Given the description of an element on the screen output the (x, y) to click on. 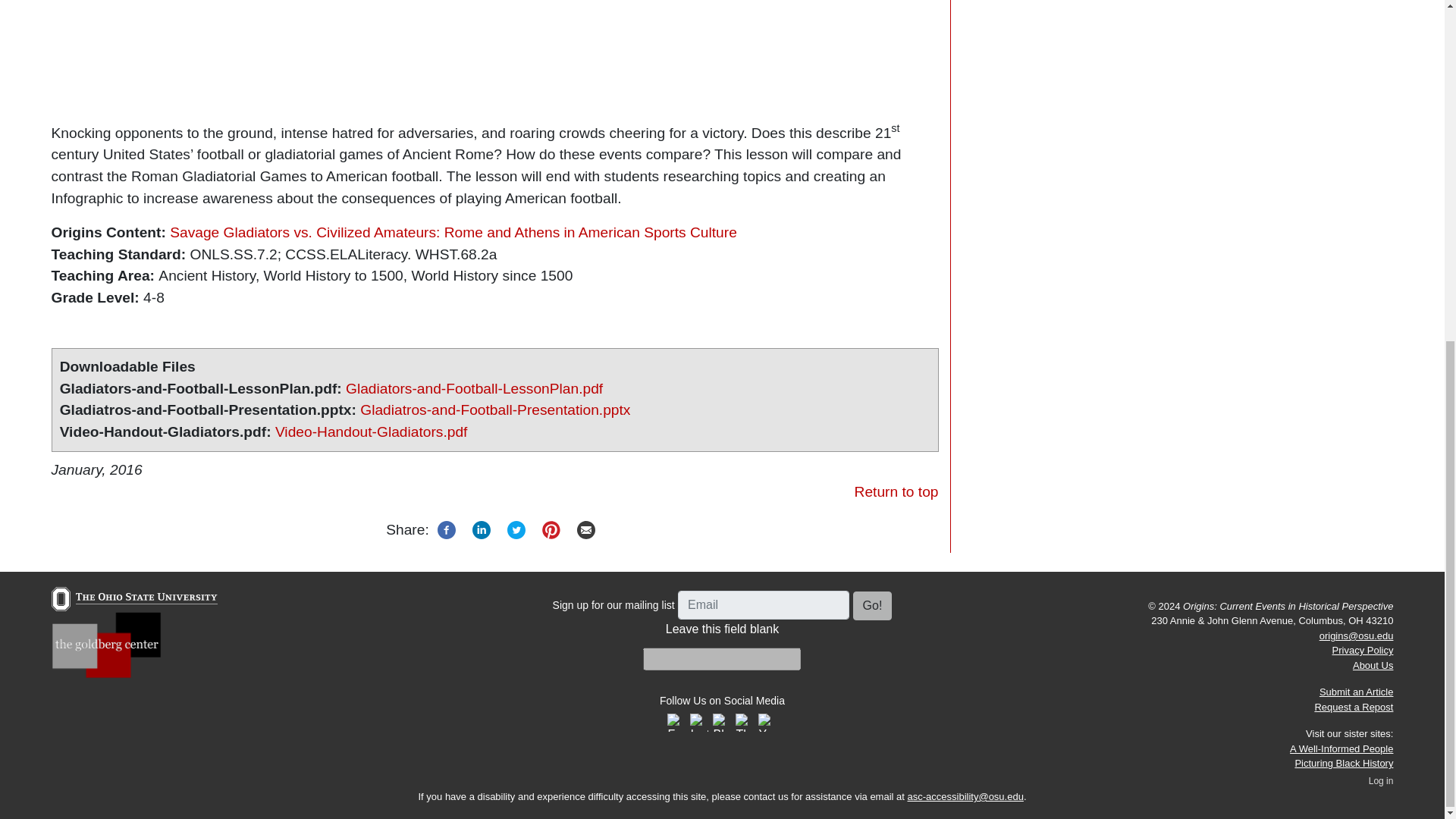
Gladiators-and-Football-LessonPlan.pdf (474, 388)
Pinterest (551, 528)
Gladiatros-and-Football-Presentation.pptx (494, 409)
Facebook (446, 528)
Email (586, 528)
Thursday, January 21, 2016 - 15:57 (96, 469)
Gladiatros-and-Football-Presentation.pptx (494, 409)
Gladiators-and-Football-LessonPlan.pdf (474, 388)
Video-Handout-Gladiators.pdf (371, 431)
Go! (872, 605)
Twitter (516, 528)
Video-Handout-Gladiators.pdf (371, 431)
Go! (872, 605)
Return to top (896, 491)
